Given the description of an element on the screen output the (x, y) to click on. 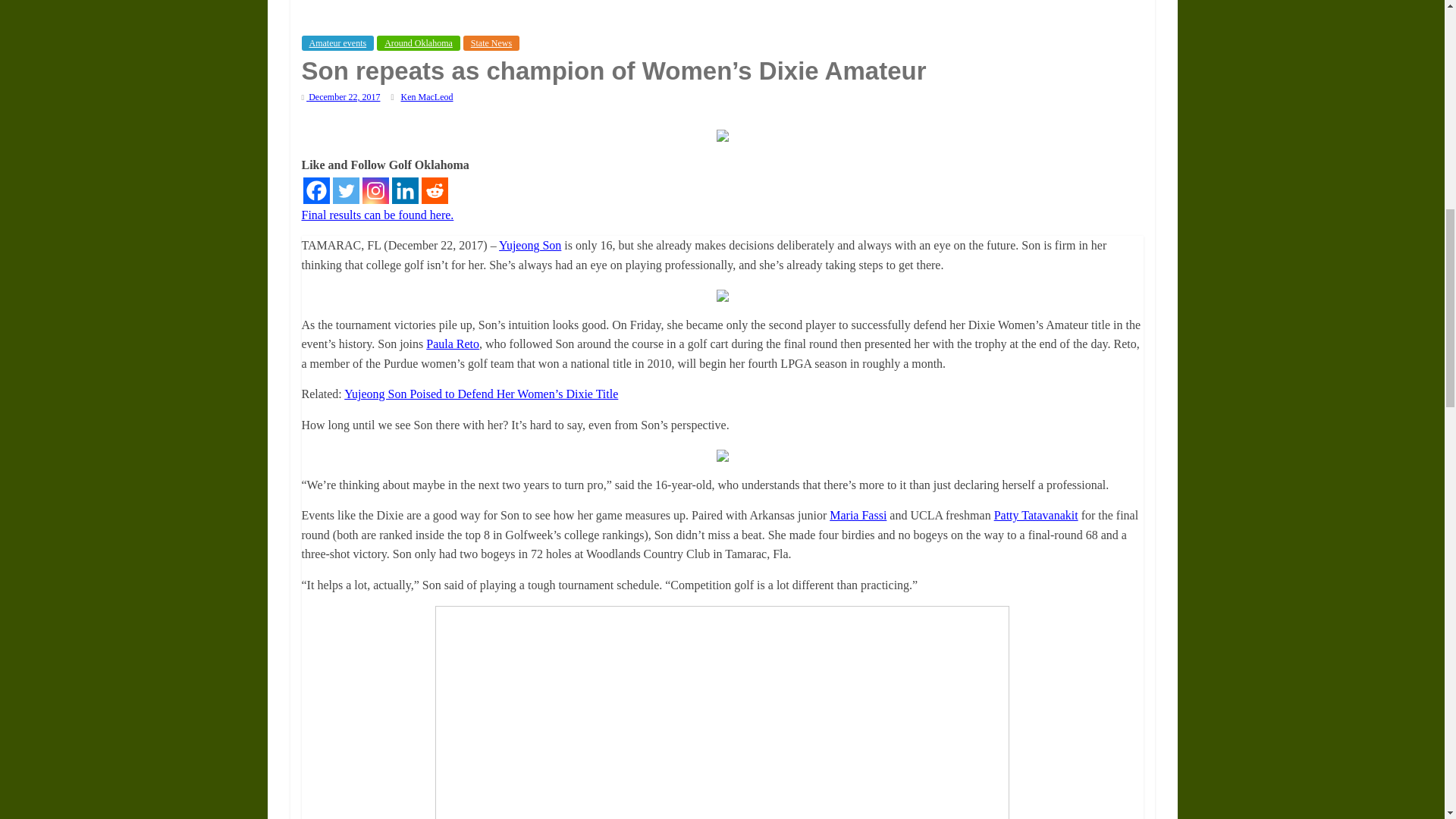
Reddit (435, 190)
Linkedin (404, 190)
4:39 pm (340, 96)
Ken MacLeod (426, 96)
Instagram (375, 190)
Facebook (316, 190)
Twitter (344, 190)
